Given the description of an element on the screen output the (x, y) to click on. 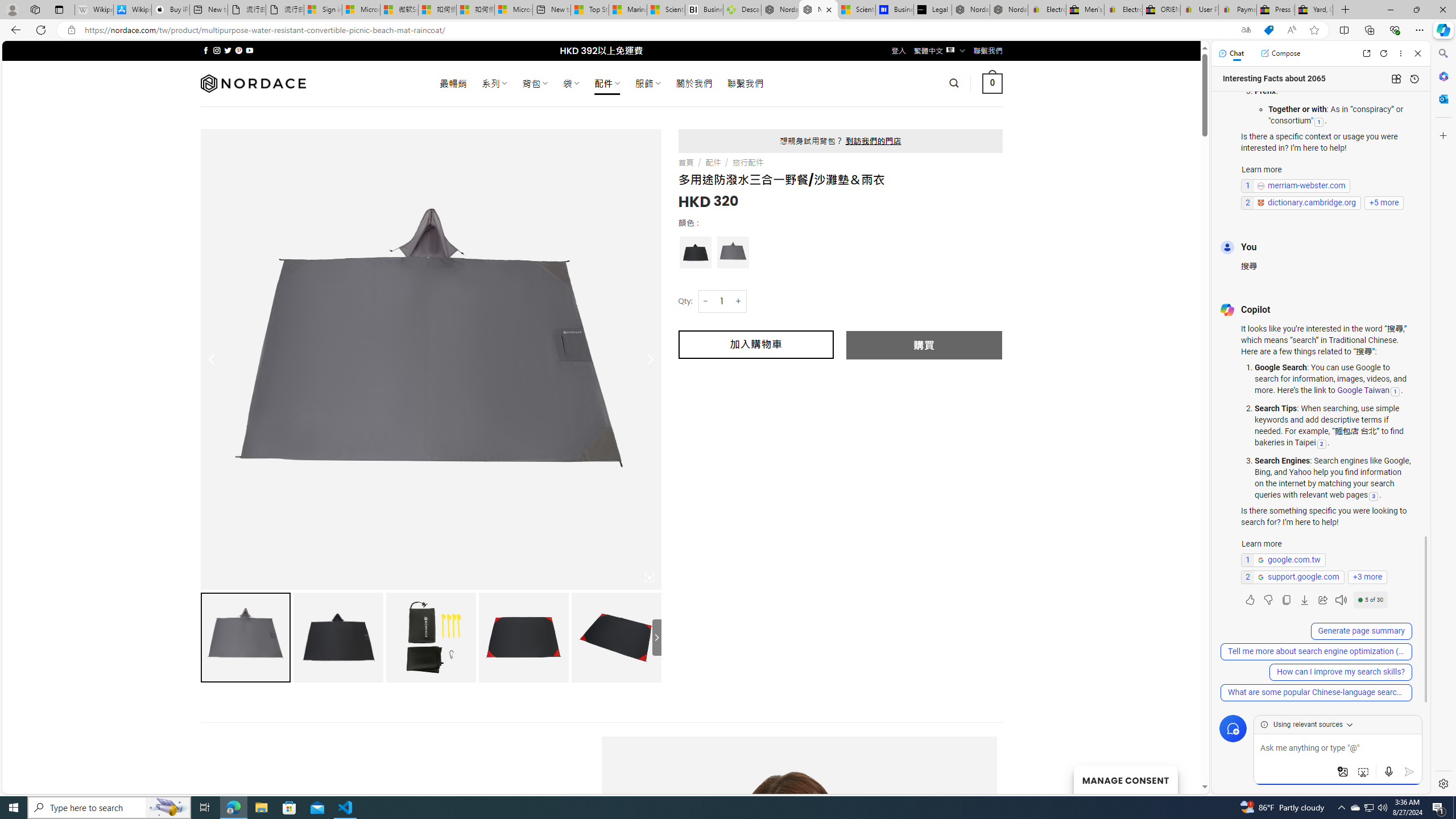
Wikipedia - Sleeping (93, 9)
Follow on Twitter (227, 50)
Payments Terms of Use | eBay.com (1237, 9)
Minimize Search pane (1442, 53)
